Given the description of an element on the screen output the (x, y) to click on. 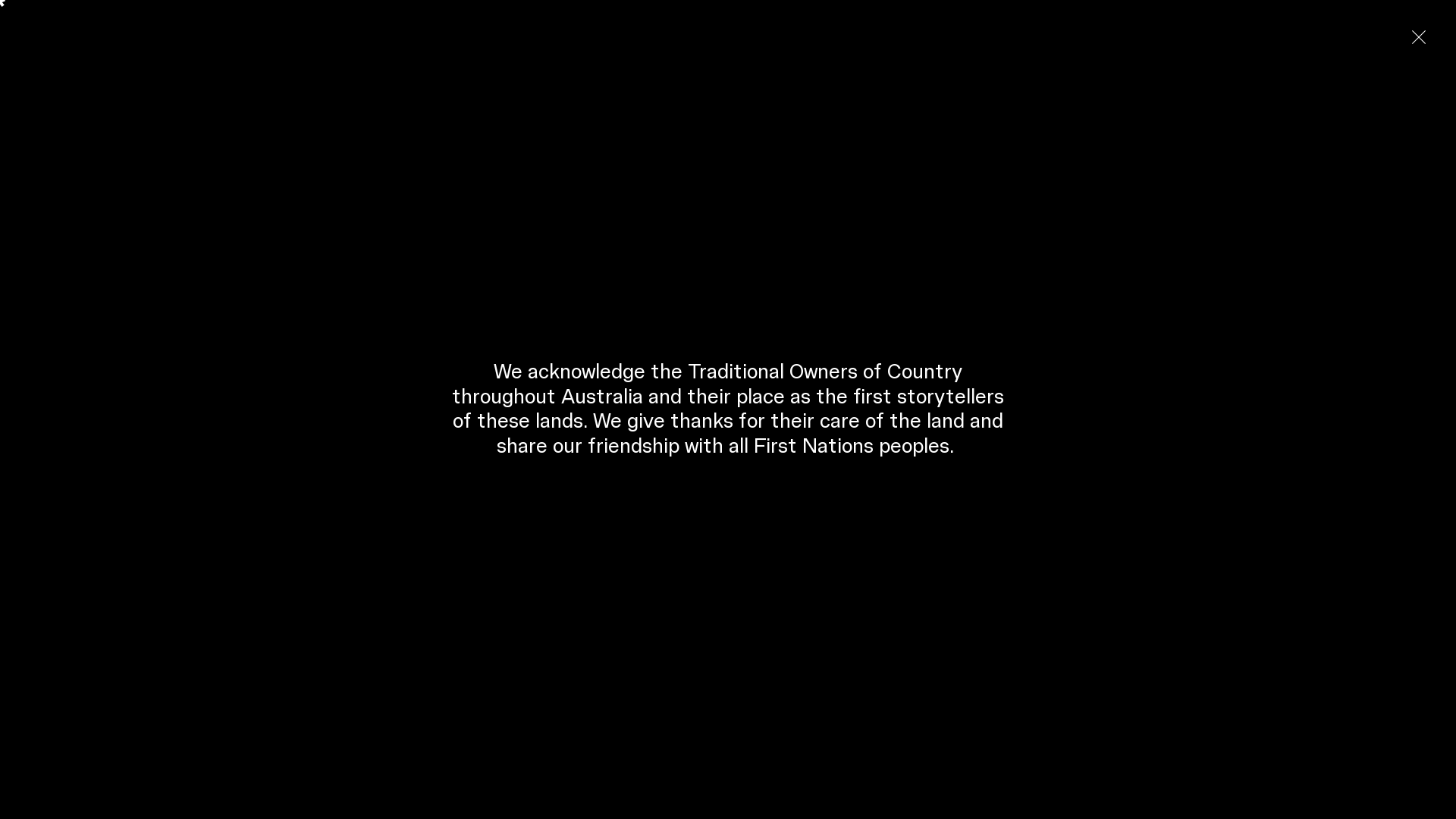
1688169600
Sydney Film Festival
See it all
View Project Element type: text (727, 714)
Brand Architecture Element type: text (1215, 225)
Campaigns Element type: text (183, 225)
Environments Element type: text (269, 29)
Publications Element type: text (814, 225)
1690848000
STRAND
Going places since 1927
View Project Element type: text (727, 372)
Wayfinding Element type: text (254, 225)
Place Visioning Element type: text (1067, 225)
INDUSTRY Element type: text (306, 191)
Most recent Element type: text (1393, 294)
Signage Element type: text (317, 225)
A-Z Element type: text (1342, 294)
CLIENT Element type: text (391, 191)
Work Element type: text (1312, 29)
Placemaking Element type: text (517, 225)
Place Element type: text (146, 29)
Environmental Graphics Element type: text (411, 225)
Digital Element type: text (1136, 225)
Branded Environments Element type: text (619, 225)
Interiors Element type: text (881, 225)
Menu Element type: text (1407, 29)
Packaging Element type: text (119, 250)
Grid Element type: text (70, 294)
1690848000
Uptown
Create memories everyday
View Project Element type: text (727, 486)
Brand Strategy Element type: text (729, 225)
List Element type: text (40, 294)
Brand Identity Element type: text (105, 225)
Typeface Element type: text (54, 250)
Property Marketing Element type: text (966, 225)
1690761600
Darling Park
Human nature
View Project Element type: text (727, 600)
Brand Element type: text (49, 29)
DISCIPLINE Element type: text (207, 191)
